Given the description of an element on the screen output the (x, y) to click on. 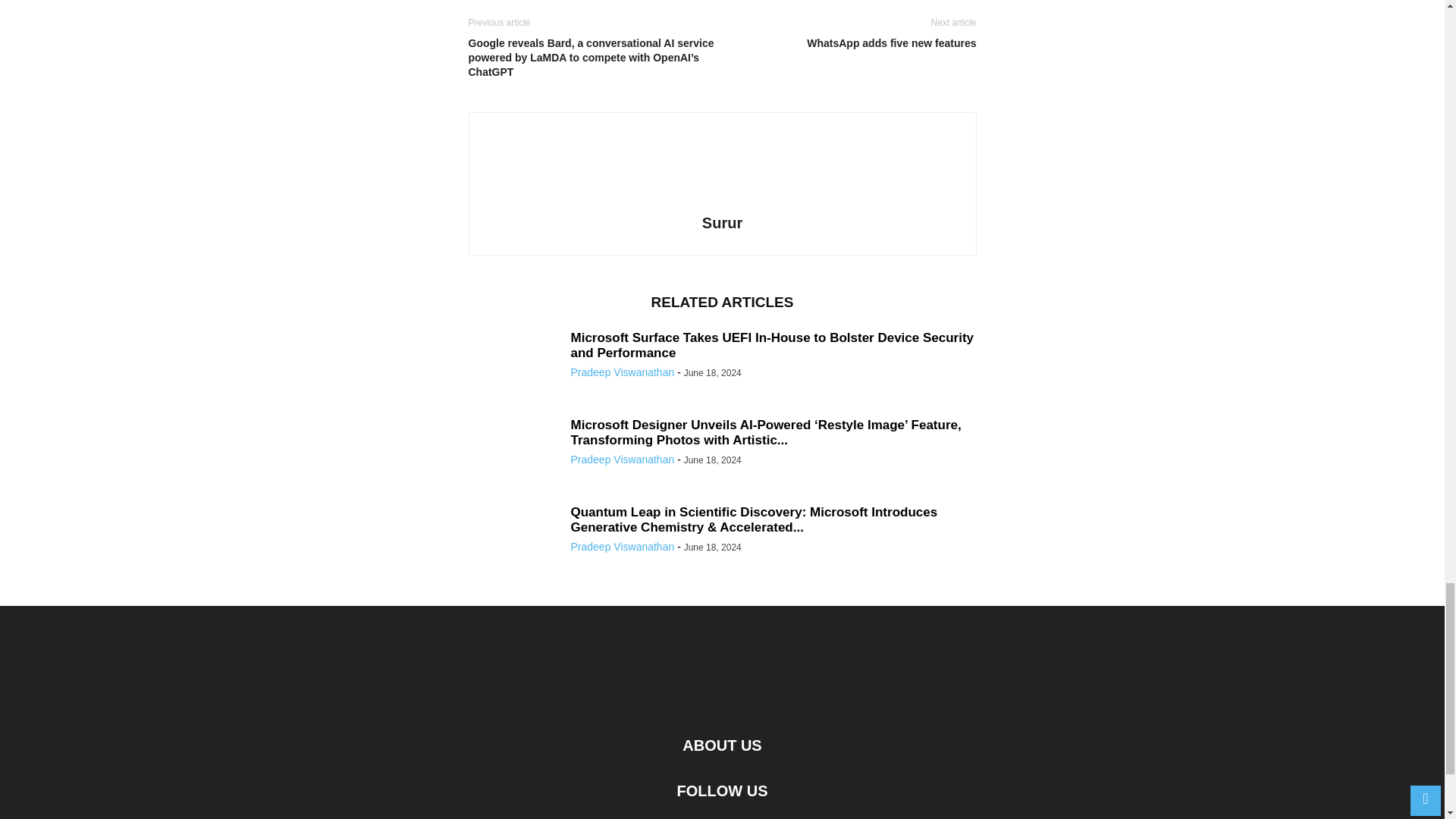
Pradeep Viswanathan (622, 546)
WhatsApp adds five new features (852, 43)
Surur (721, 222)
Pradeep Viswanathan (622, 459)
Pradeep Viswanathan (622, 372)
